Given the description of an element on the screen output the (x, y) to click on. 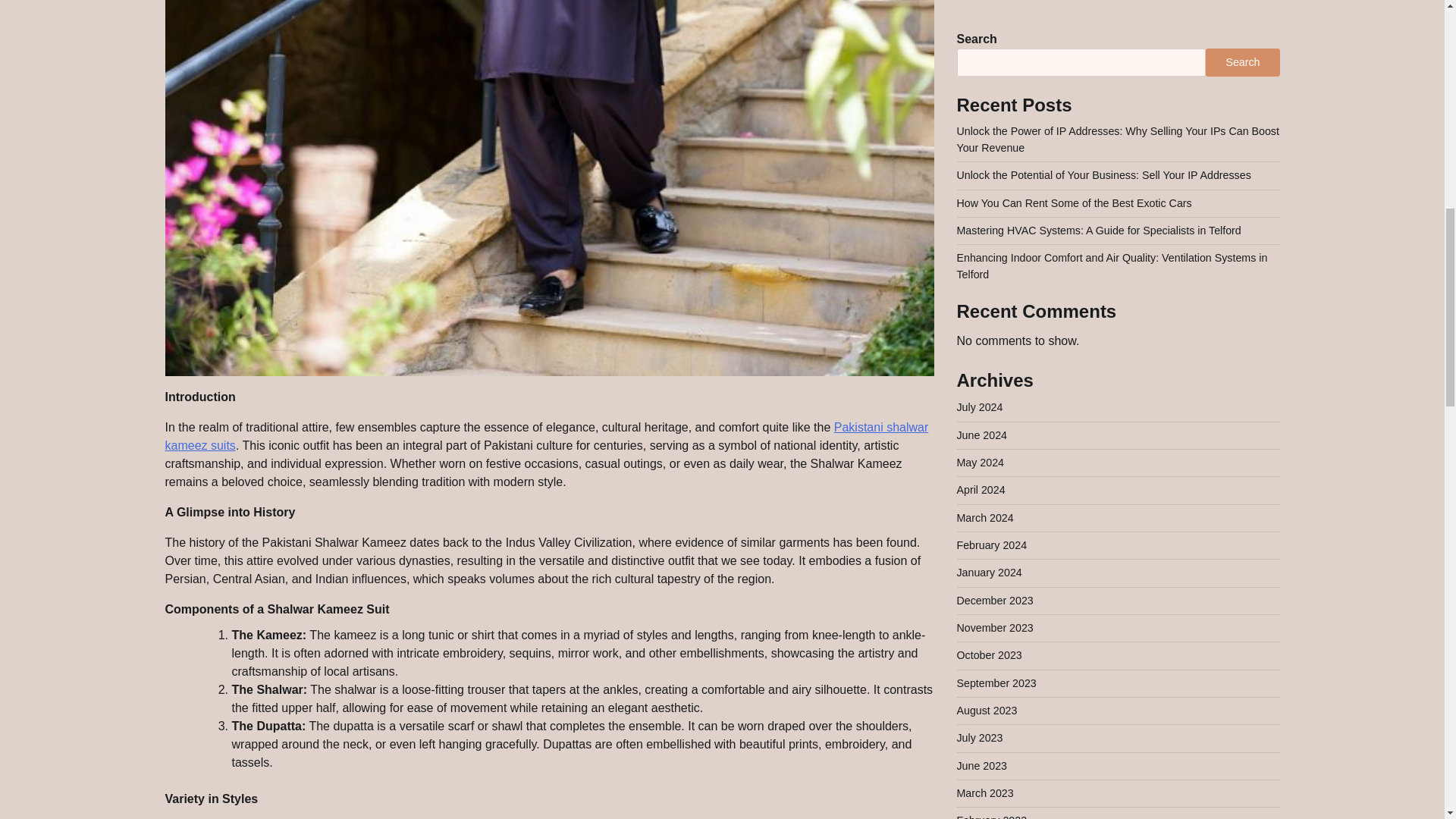
Pakistani shalwar kameez suits (546, 436)
